Given the description of an element on the screen output the (x, y) to click on. 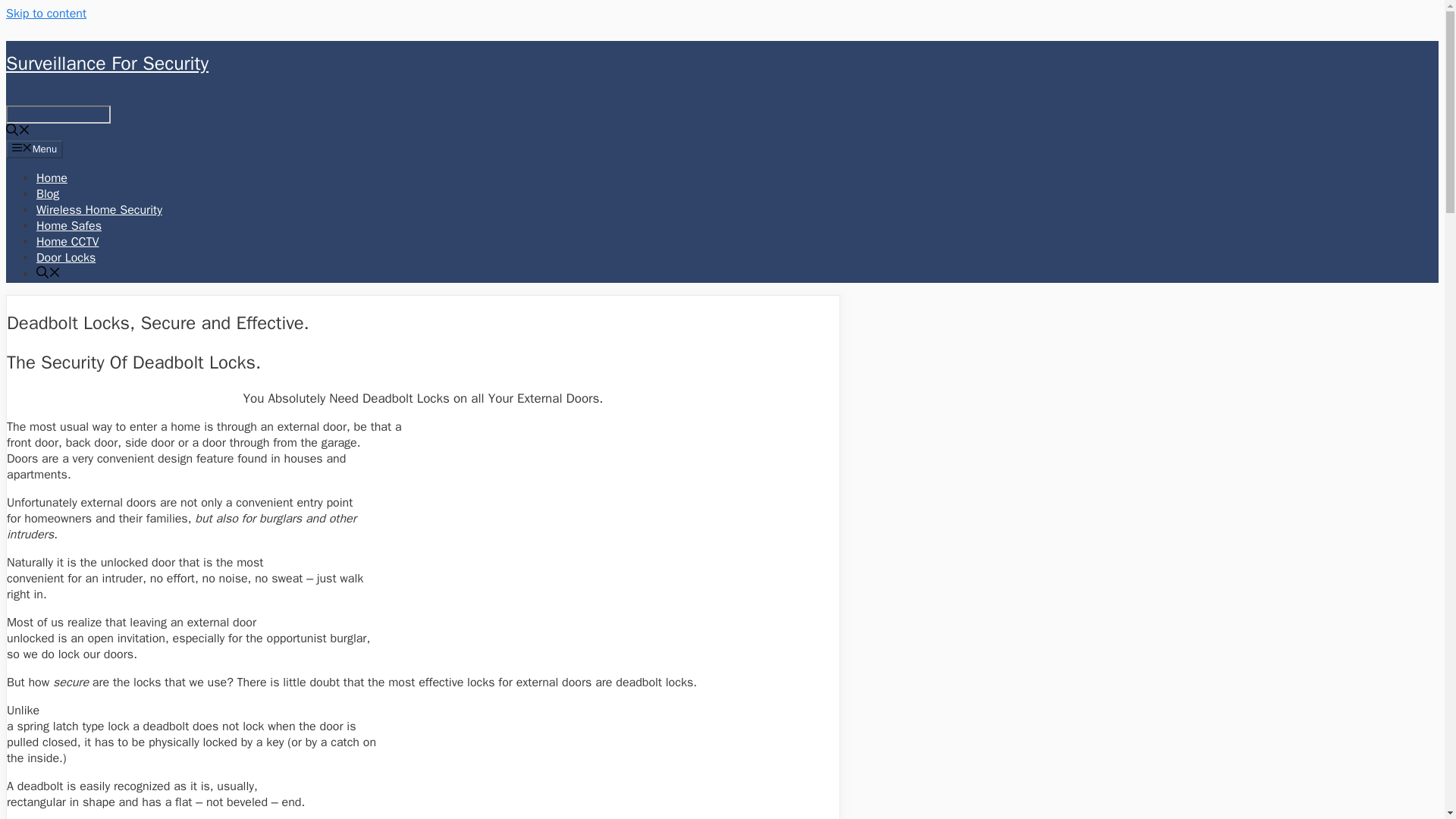
Skip to content (45, 13)
Home CCTV (67, 241)
Door Locks (66, 257)
Home (51, 177)
Home Safes (68, 225)
Menu (33, 149)
Blog (47, 193)
Skip to content (45, 13)
Wireless Home Security (98, 209)
Search (57, 114)
